Given the description of an element on the screen output the (x, y) to click on. 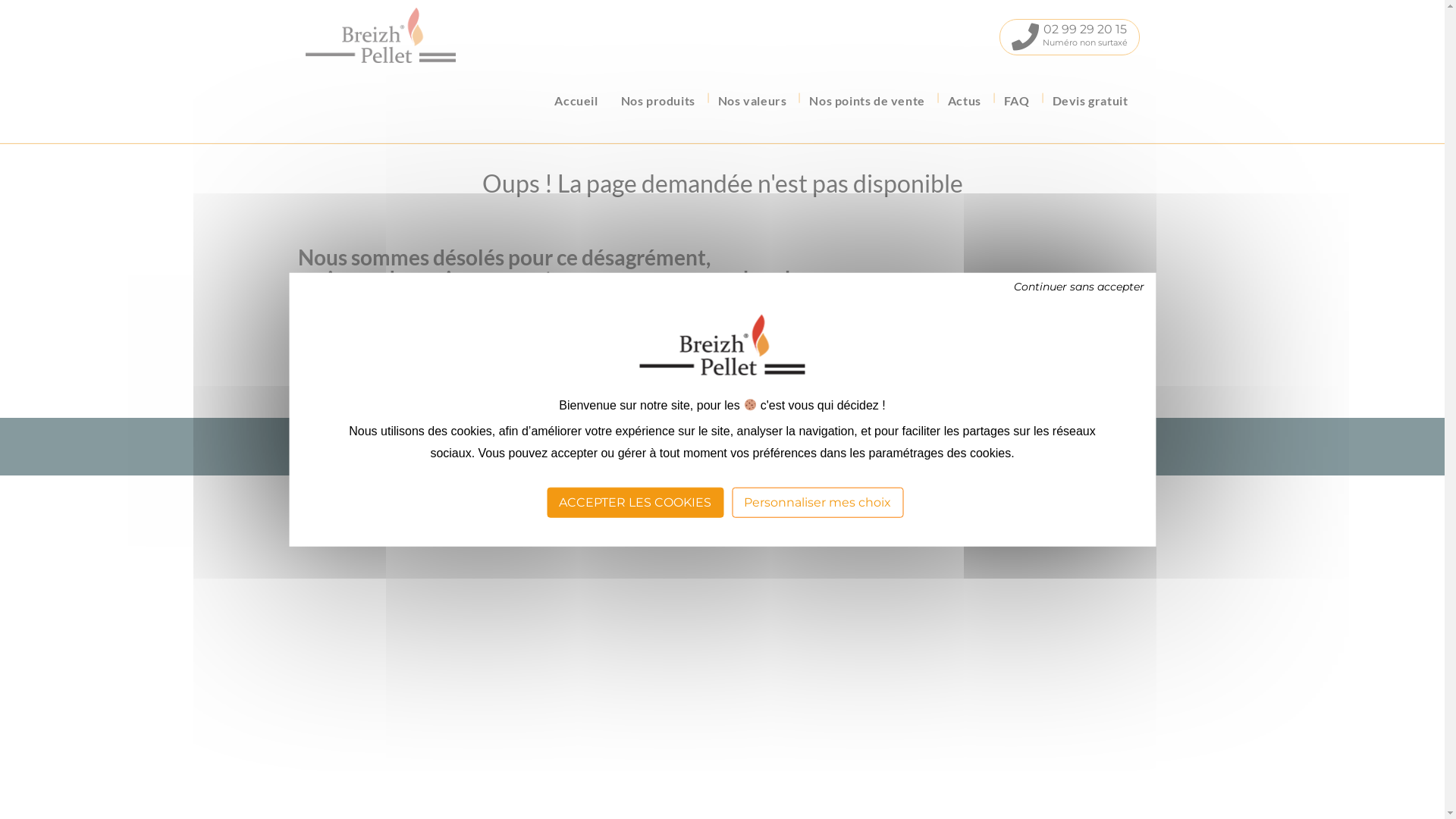
Nos valeurs Element type: text (752, 100)
Nos points de vente Element type: text (866, 100)
FAQ Element type: text (1016, 100)
Gestion des cookies Element type: text (851, 433)
Actus Element type: text (964, 100)
Blog Element type: text (557, 433)
Continuer sans accepter Element type: text (1078, 286)
Nos produits Element type: text (657, 100)
FAQ Element type: text (589, 433)
Accueil Element type: text (575, 100)
envoyer un message Element type: text (414, 350)
ACCEPTER LES COOKIES Element type: text (634, 501)
Plan de site Element type: text (770, 433)
Personnaliser mes choix Element type: text (817, 501)
Devis gratuit Element type: text (1090, 100)
Contact Element type: text (627, 433)
